Given the description of an element on the screen output the (x, y) to click on. 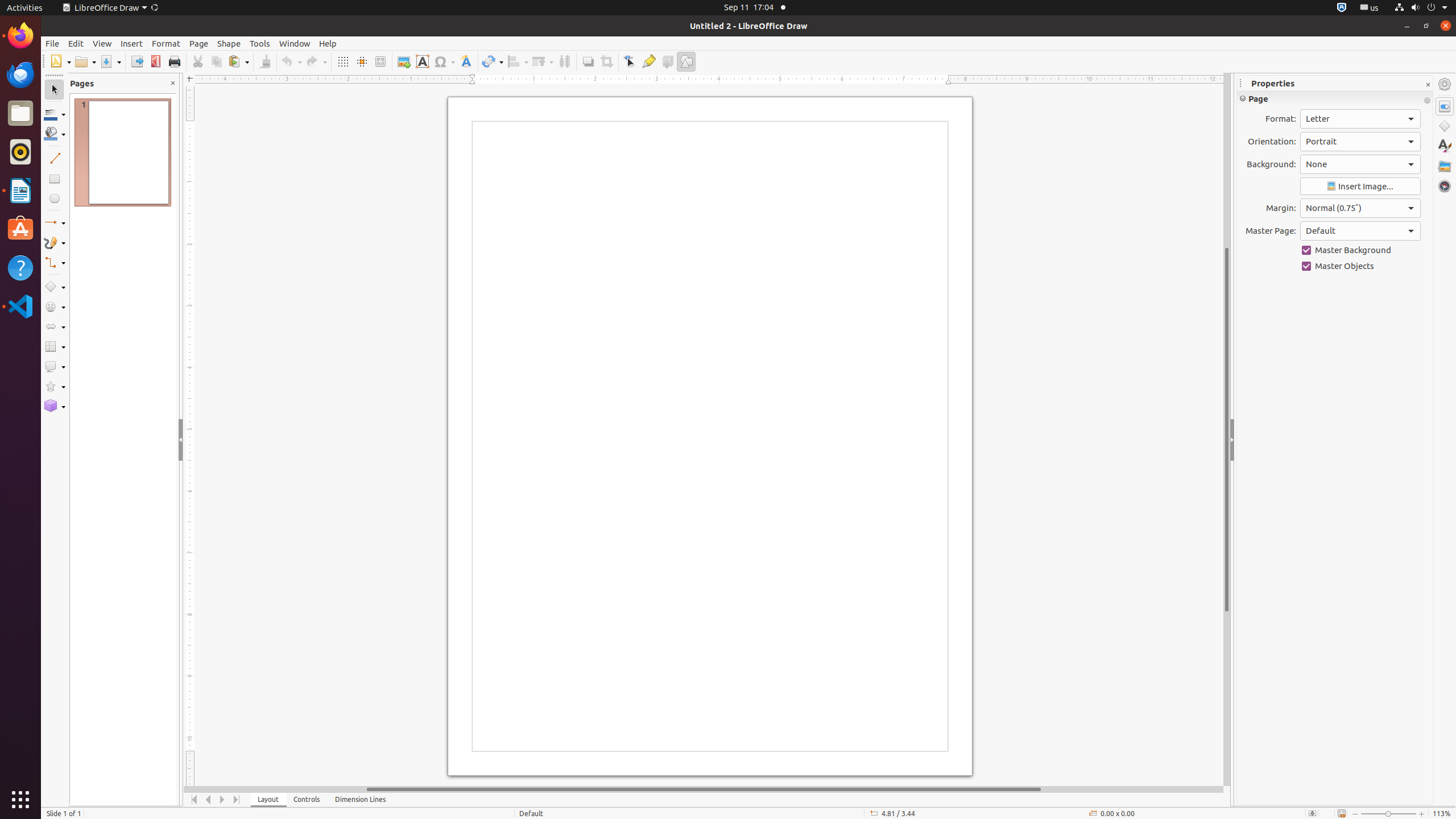
Basic Shapes Element type: push-button (54, 286)
Flowchart Shapes Element type: push-button (54, 346)
Styles Element type: radio-button (1444, 146)
Horizontal Ruler Element type: ruler (703, 79)
Fill Color Element type: push-button (146, 81)
